Given the description of an element on the screen output the (x, y) to click on. 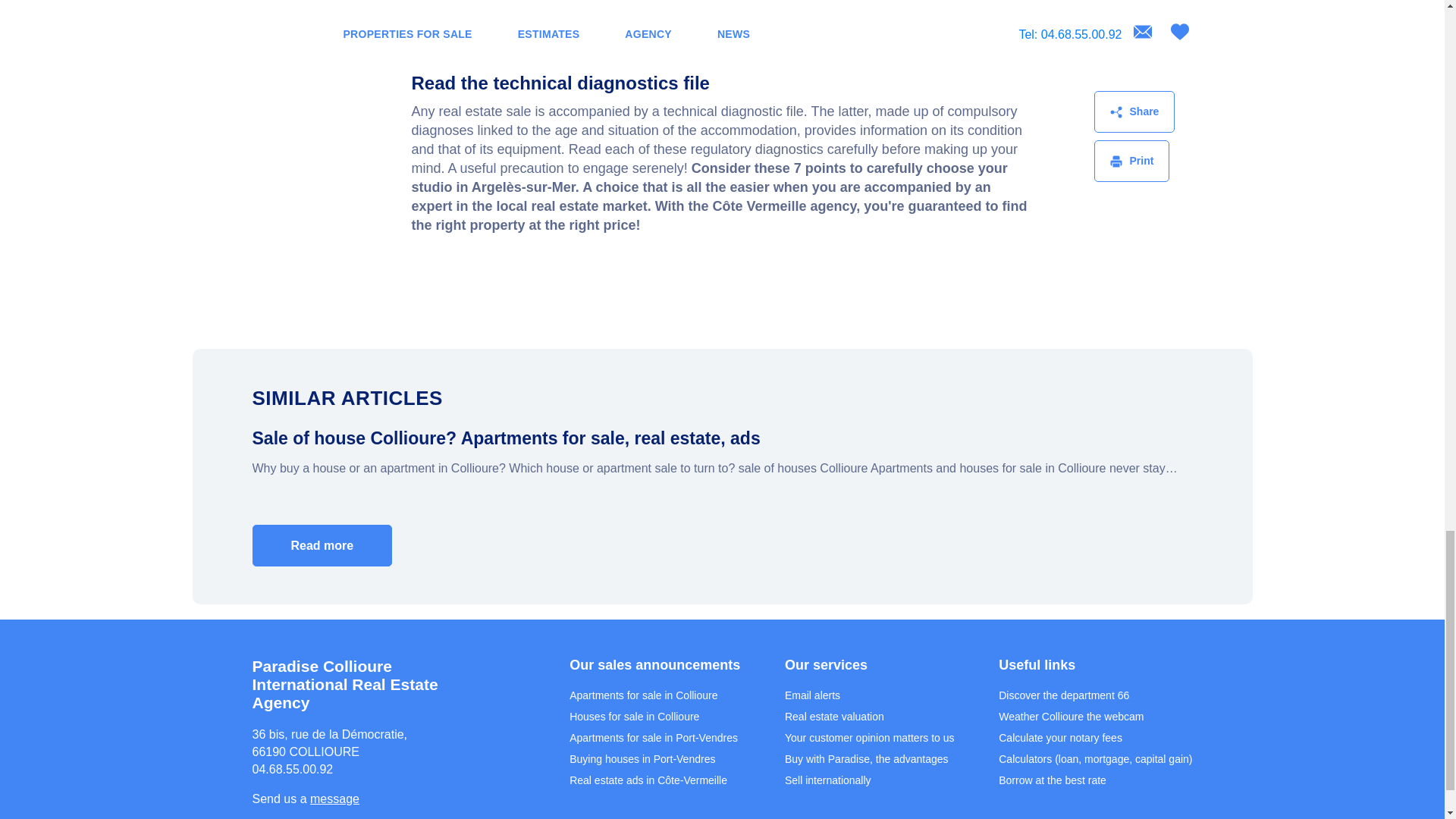
Apartments for sale in Port-Vendres (653, 737)
Discover the department 66 (1063, 695)
Email alerts (812, 695)
Sell internationally (827, 779)
Paradise Collioure International Real Estate Agency (363, 684)
Weather Collioure the webcam (1070, 716)
Your customer opinion matters to us (869, 737)
Read more (321, 545)
Buying houses in Port-Vendres (641, 758)
Apartments for sale in Collioure (643, 695)
